Given the description of an element on the screen output the (x, y) to click on. 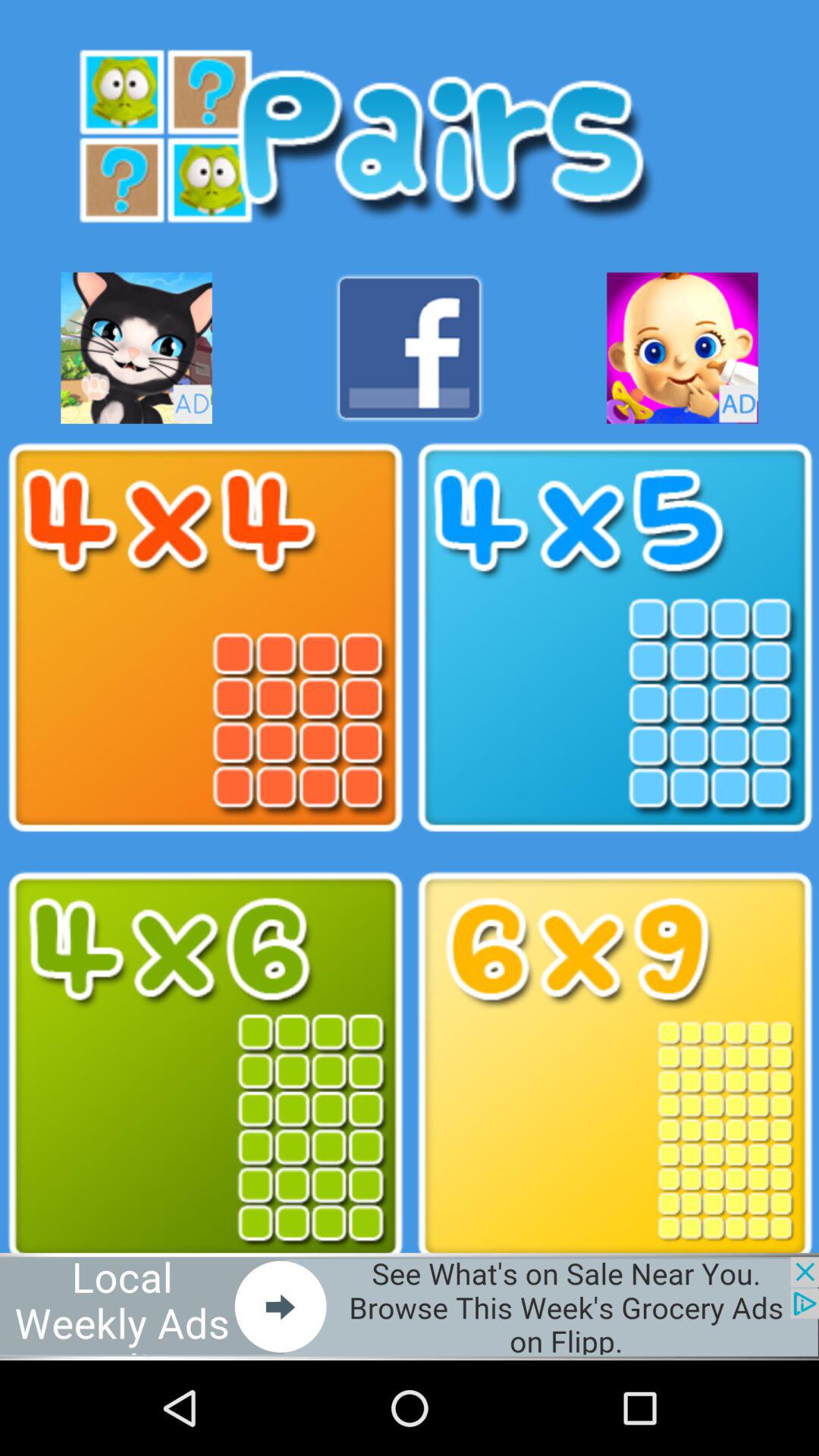
go to facebook (409, 347)
